Given the description of an element on the screen output the (x, y) to click on. 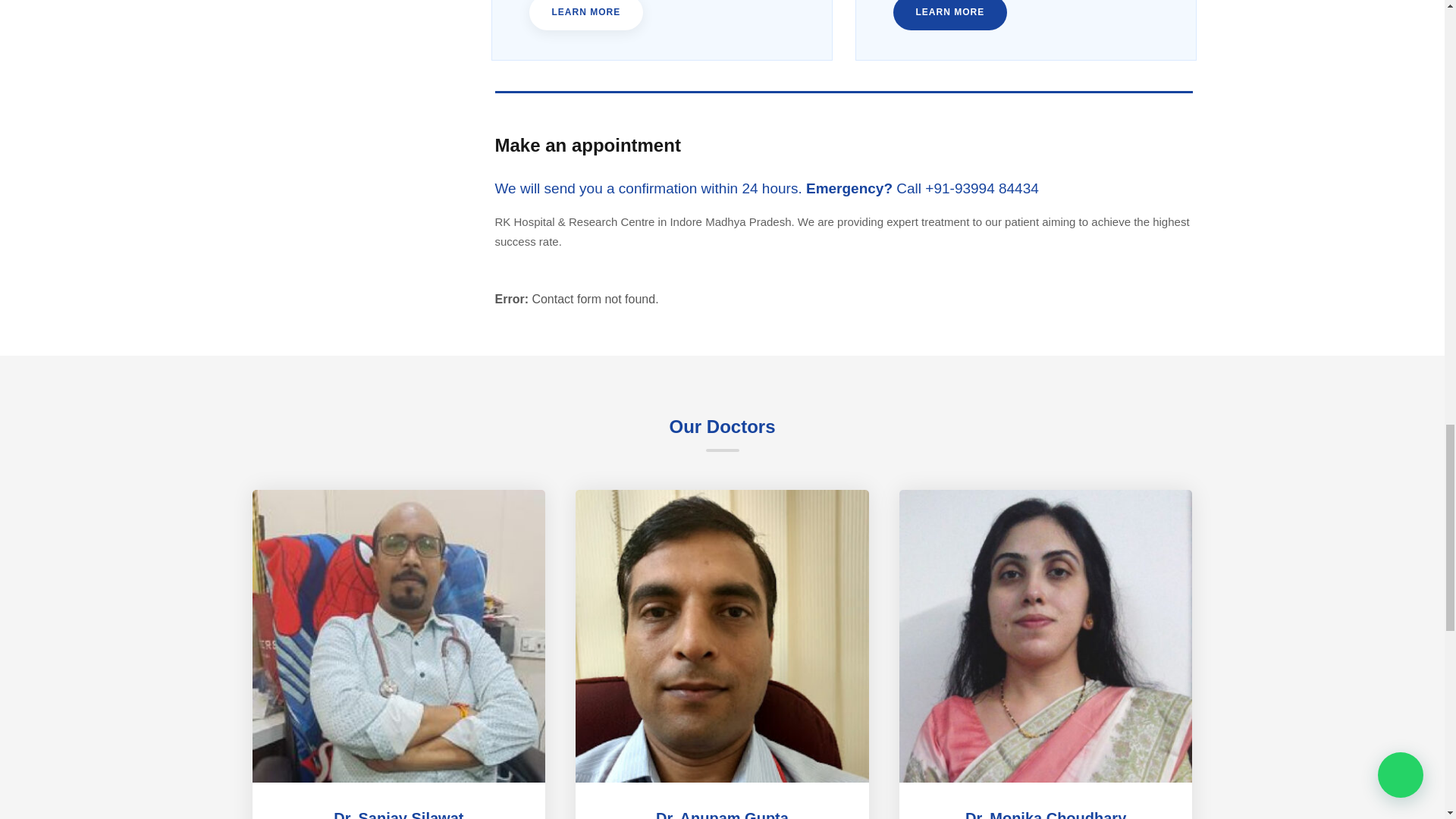
Dr. Sanjay Silawat (398, 814)
LEARN MORE (950, 15)
LEARN MORE (586, 15)
Dr. Anupam Gupta (722, 814)
